Given the description of an element on the screen output the (x, y) to click on. 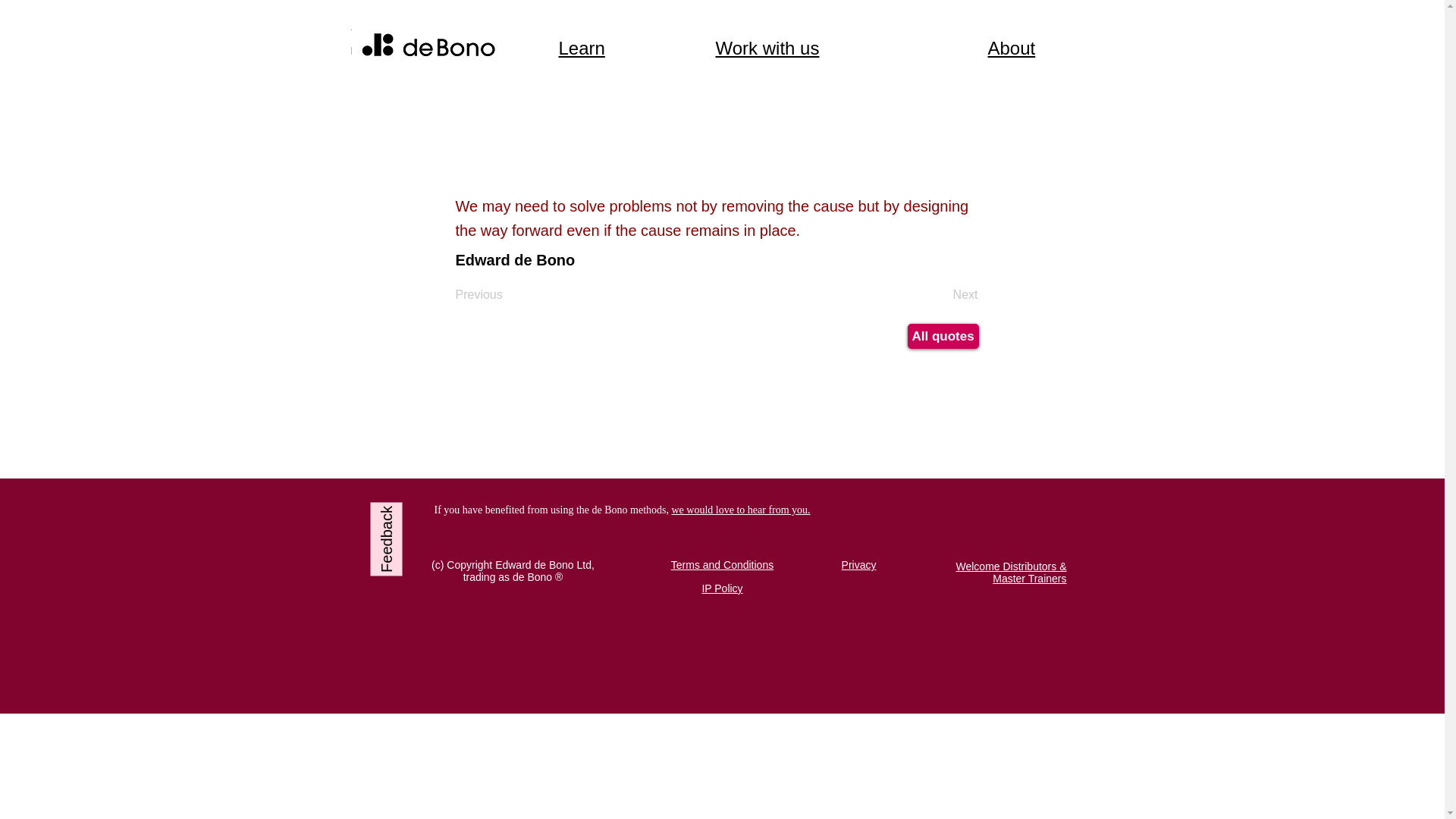
All quotes (942, 335)
Updates (400, 43)
Home (422, 33)
Training (384, 43)
Learn (580, 47)
Terms and Conditions (722, 564)
Schools and families (425, 30)
About (1011, 47)
IP Policy (721, 588)
Forms (366, 24)
Previous (485, 294)
we would love to hear from you. (740, 509)
Feedback (406, 517)
News (372, 26)
Work with us (767, 47)
